Given the description of an element on the screen output the (x, y) to click on. 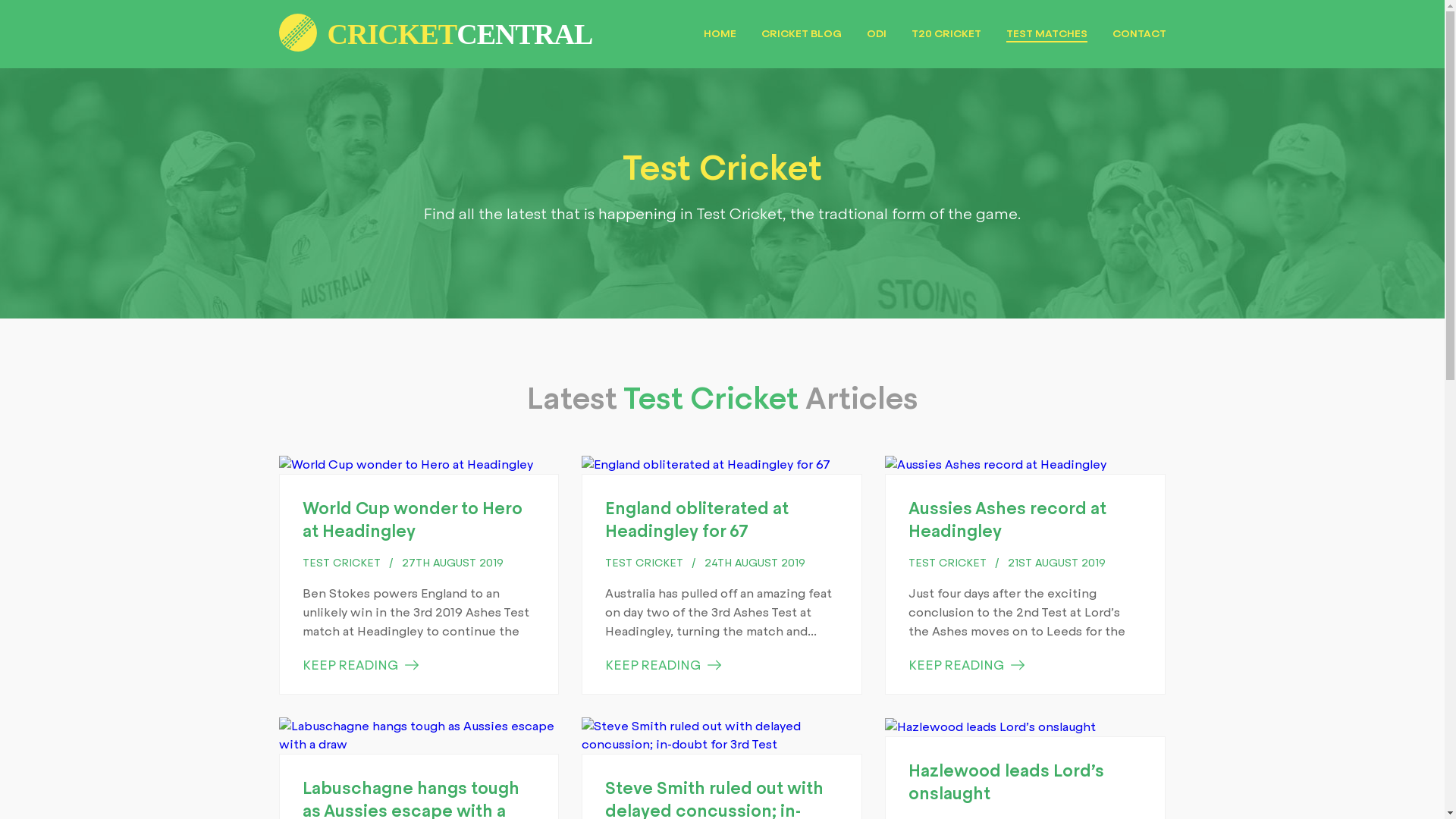
T20 CRICKET Element type: text (946, 32)
World Cup wonder to Hero at Headingley Element type: text (411, 519)
TEST CRICKET Element type: text (644, 562)
CRICKETCENTRAL Element type: text (436, 19)
ODI Element type: text (875, 32)
England obliterated at Headingley for 67 Element type: text (696, 519)
KEEP READING Element type: text (663, 664)
TEST MATCHES Element type: text (1045, 33)
KEEP READING Element type: text (359, 664)
CRICKET BLOG Element type: text (801, 32)
KEEP READING Element type: text (966, 664)
HOME Element type: text (719, 32)
TEST CRICKET Element type: text (947, 562)
Aussies Ashes record at Headingley Element type: text (1007, 519)
TEST CRICKET Element type: text (340, 562)
CONTACT Element type: text (1138, 32)
